Given the description of an element on the screen output the (x, y) to click on. 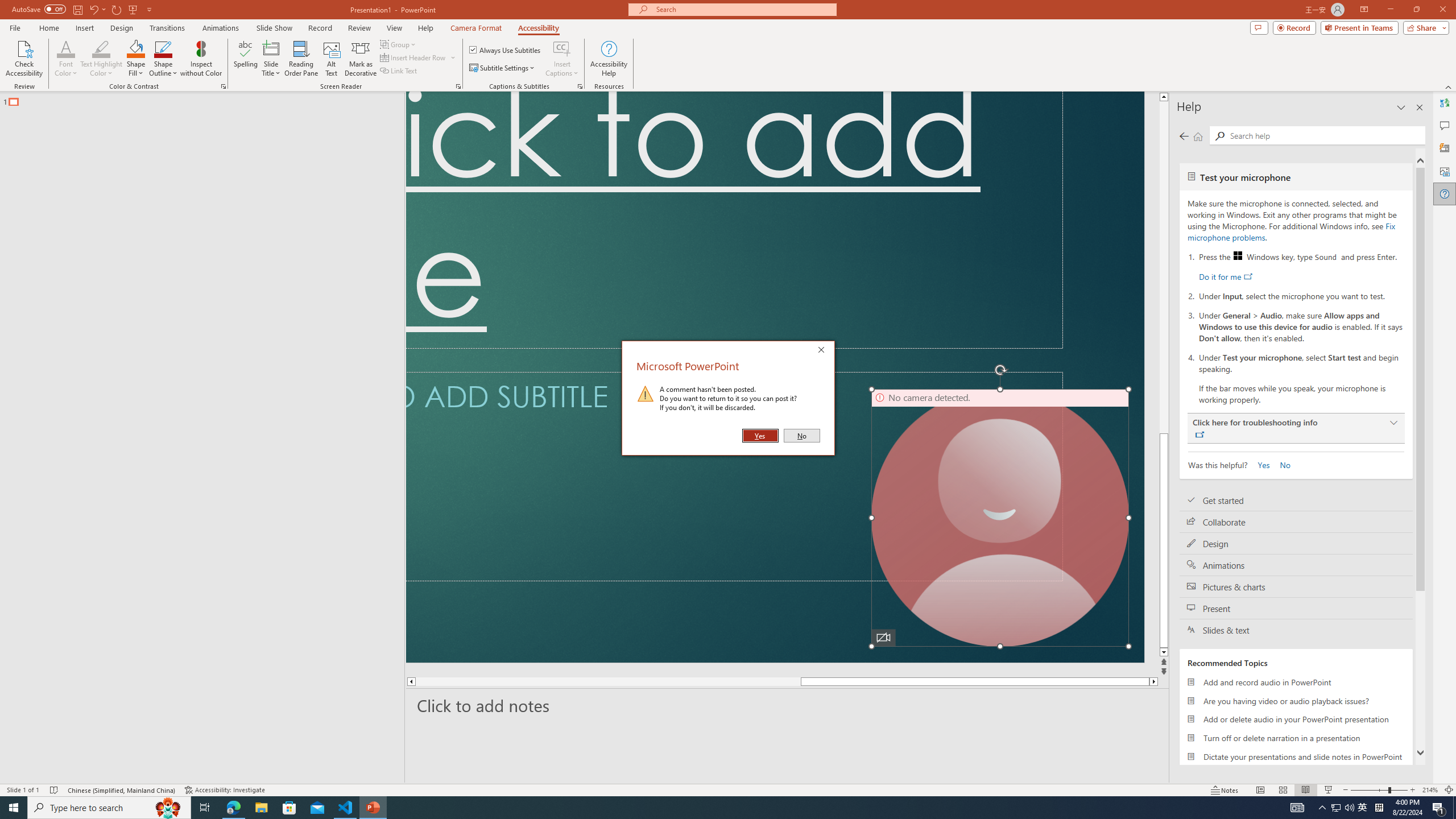
Zoom 214% (1430, 790)
Test your microphone (1296, 176)
Are you having video or audio playback issues? (1295, 700)
Color & Contrast (223, 85)
